Given the description of an element on the screen output the (x, y) to click on. 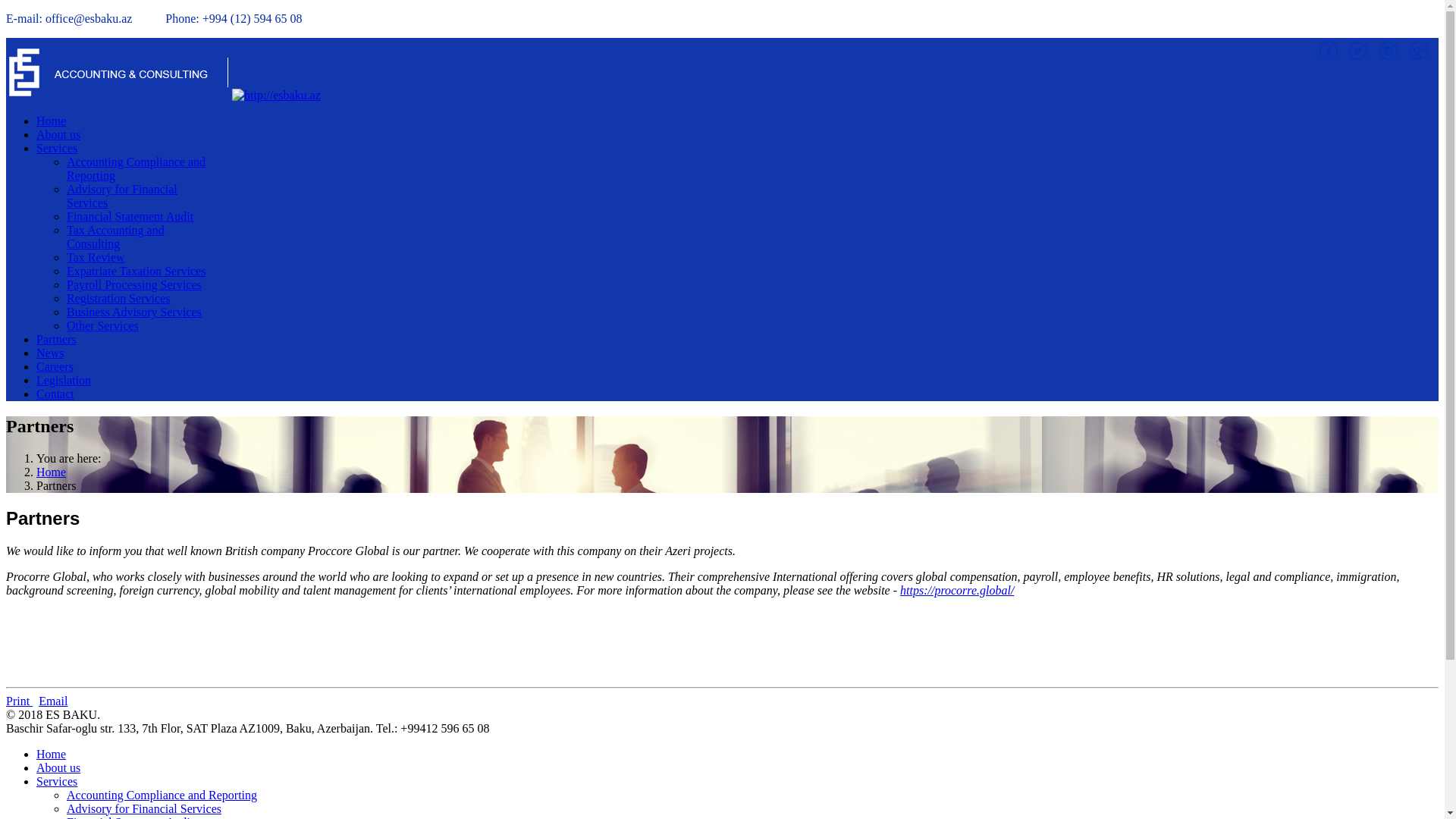
Tax Accounting and Consulting Element type: text (115, 236)
Services Element type: text (56, 781)
Advisory for Financial Services Element type: text (121, 195)
About us Element type: text (58, 767)
Home Element type: text (50, 471)
Email Element type: text (52, 700)
Partners Element type: text (55, 338)
News Element type: text (49, 352)
Tax Review Element type: text (95, 257)
Services Element type: text (56, 147)
Financial Statement Audit Element type: text (129, 216)
About us Element type: text (58, 134)
Other Services Element type: text (102, 325)
Careers Element type: text (54, 366)
Payroll Processing Services Element type: text (133, 284)
https://procorre.global/ Element type: text (956, 589)
Advisory for Financial Services Element type: text (143, 808)
Expatriate Taxation Services Element type: text (135, 270)
Registration Services Element type: text (117, 297)
Accounting Compliance and Reporting Element type: text (161, 794)
Home Element type: text (50, 753)
Legislation Element type: text (63, 379)
Business Advisory Services Element type: text (133, 311)
Contact Element type: text (55, 393)
Accounting Compliance and Reporting Element type: text (135, 168)
Home Element type: text (50, 120)
Print Element type: text (19, 700)
